Given the description of an element on the screen output the (x, y) to click on. 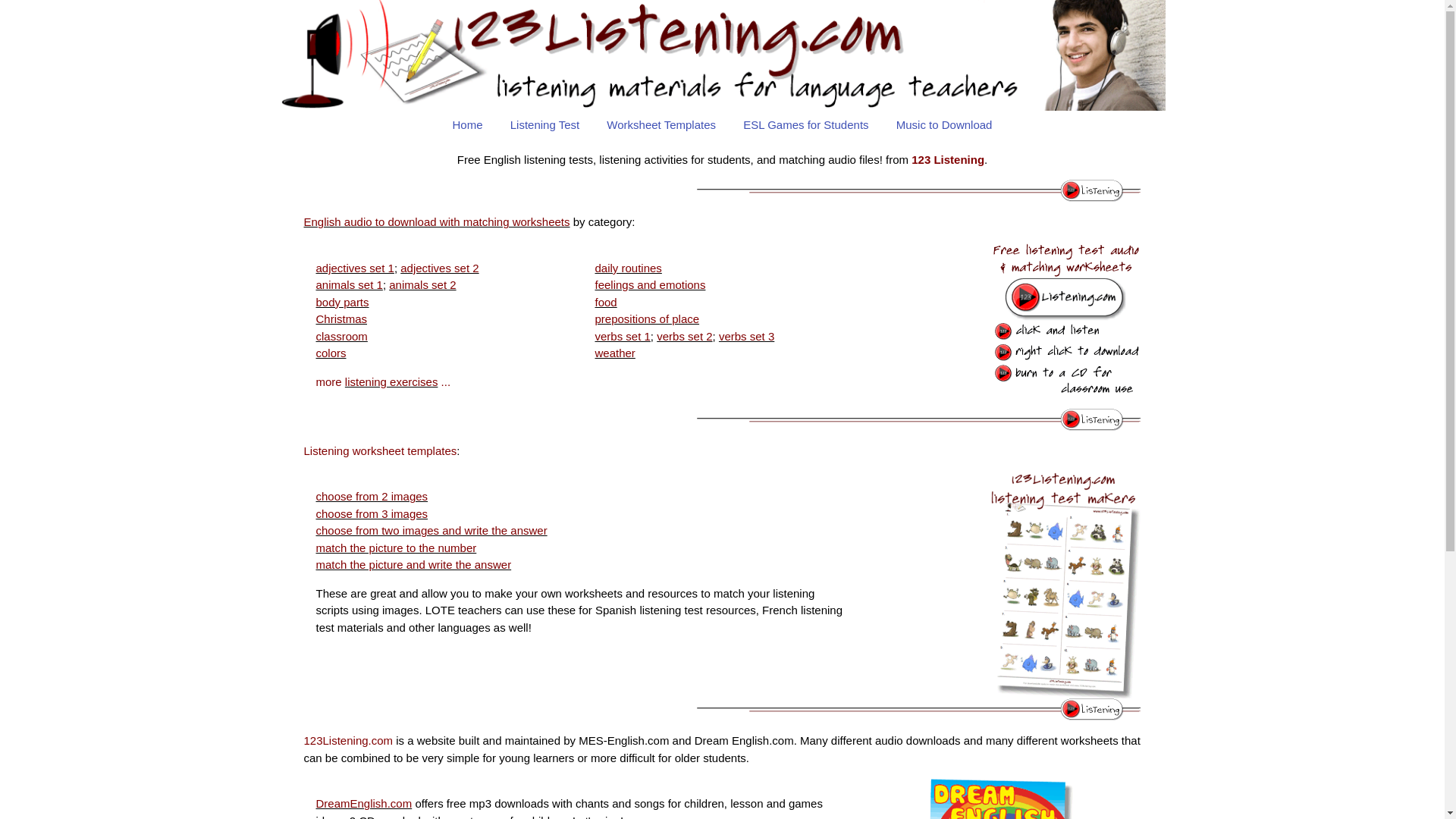
123 Listening Element type: hover (721, 55)
classroom Element type: text (341, 335)
choose from two images and write the answer Element type: text (430, 530)
food Element type: text (605, 301)
match the picture to the number Element type: text (395, 547)
daily routines Element type: text (627, 267)
verbs set 1 Element type: text (621, 335)
verbs set 2 Element type: text (684, 335)
choose from 2 images Element type: text (371, 495)
adjectives set 1 Element type: text (354, 267)
Worksheet Templates Element type: text (661, 125)
feelings and emotions Element type: text (649, 284)
Christmas Element type: text (341, 318)
DreamEnglish.com Element type: text (363, 803)
choose from 3 images Element type: text (371, 513)
weather Element type: text (614, 352)
Listening Test Element type: text (544, 125)
colors Element type: text (330, 352)
ESL Games for Students Element type: text (805, 125)
adjectives set 2 Element type: text (439, 267)
verbs set 3 Element type: text (746, 335)
English audio to download with matching worksheets Element type: text (436, 221)
listening exercises Element type: text (391, 381)
animals set 1 Element type: text (348, 284)
Music to Download Element type: text (944, 125)
Home Element type: text (467, 125)
prepositions of place Element type: text (646, 318)
body parts Element type: text (341, 301)
animals set 2 Element type: text (422, 284)
match the picture and write the answer Element type: text (413, 564)
